Given the description of an element on the screen output the (x, y) to click on. 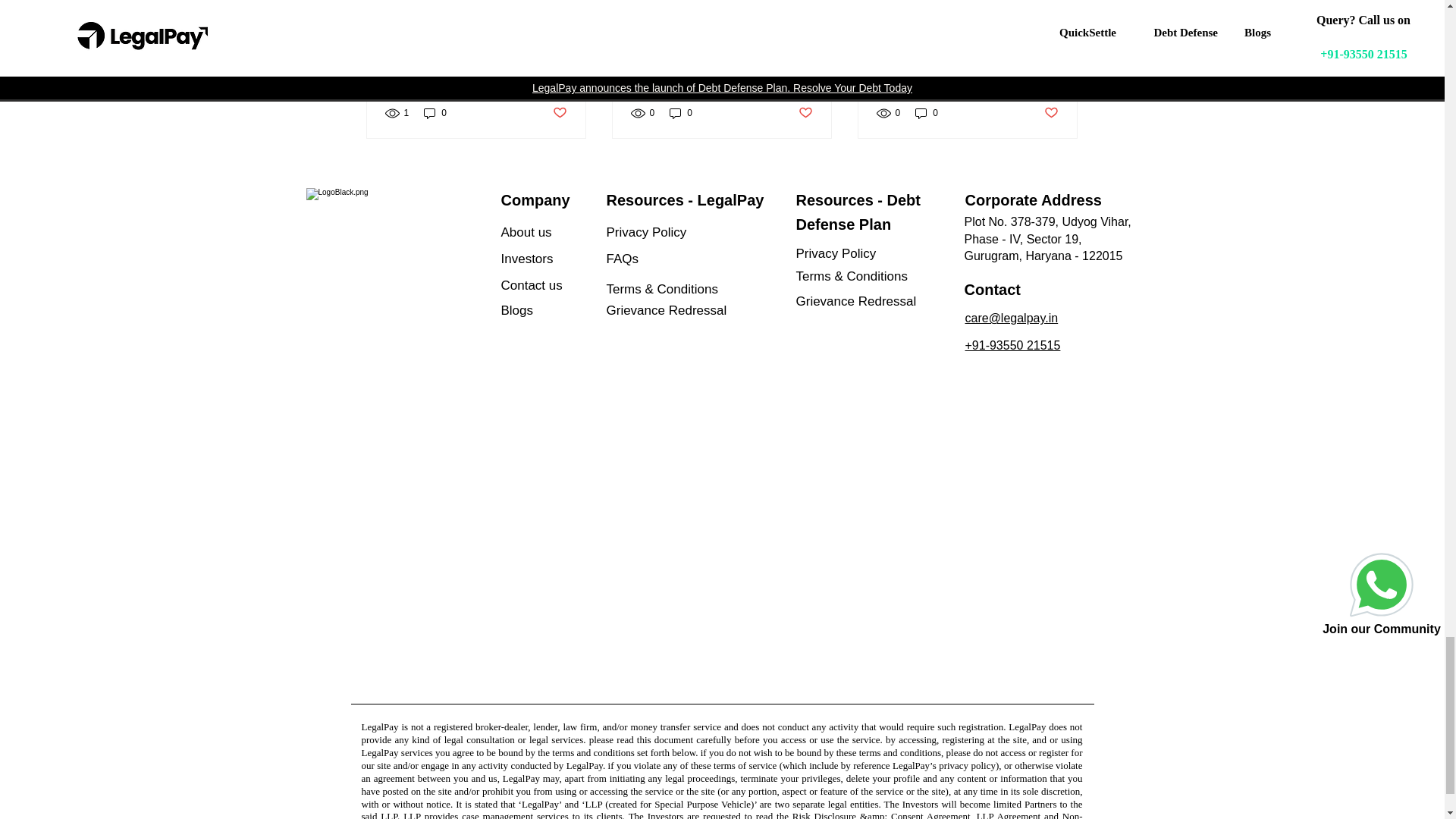
0 (926, 113)
0 (681, 113)
Post not marked as liked (558, 113)
Privacy Policy (679, 232)
FAQs (679, 258)
Investors (553, 258)
Post not marked as liked (1050, 113)
About us (553, 232)
0 (435, 113)
